Given the description of an element on the screen output the (x, y) to click on. 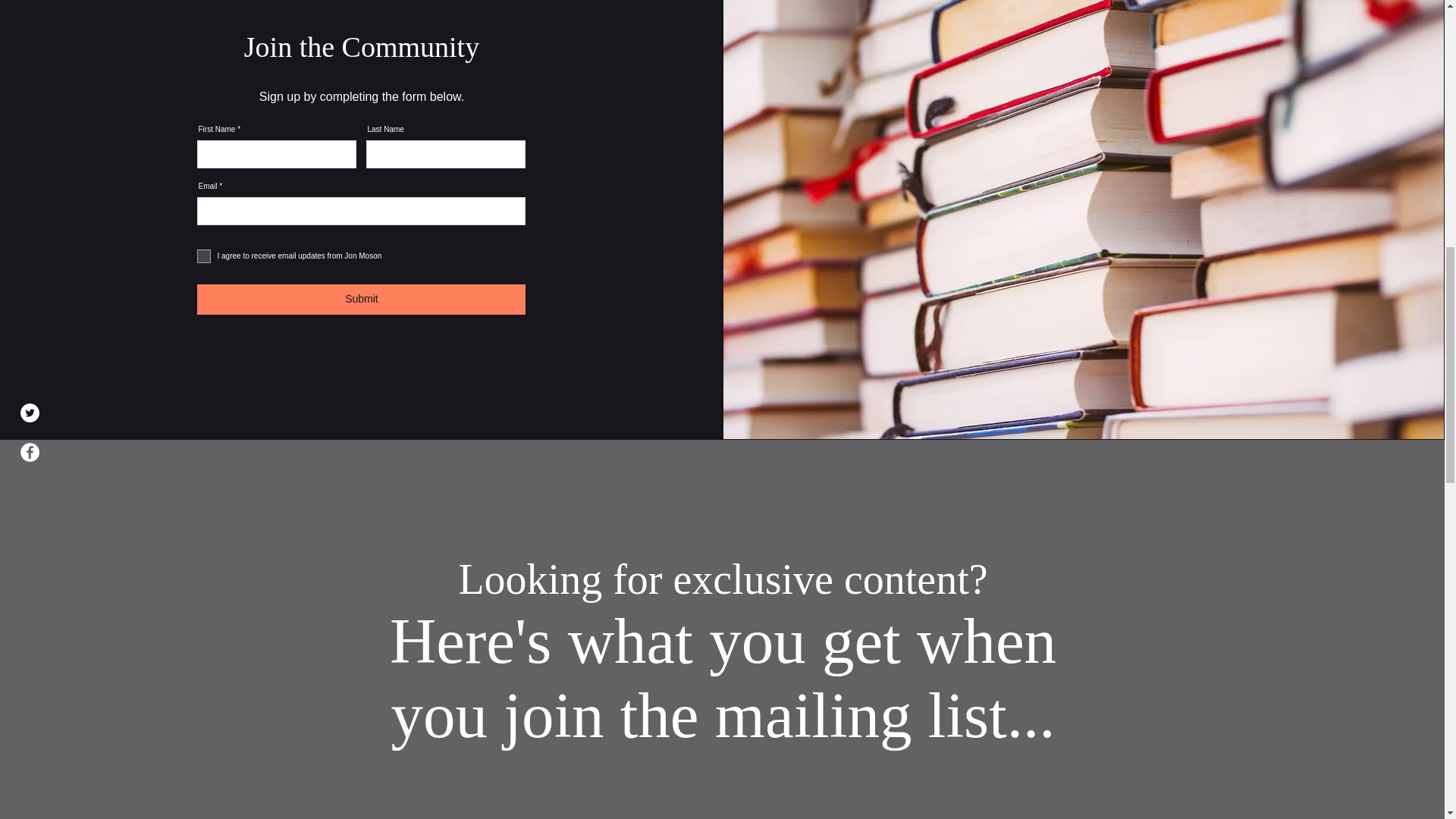
Submit (360, 299)
